Given the description of an element on the screen output the (x, y) to click on. 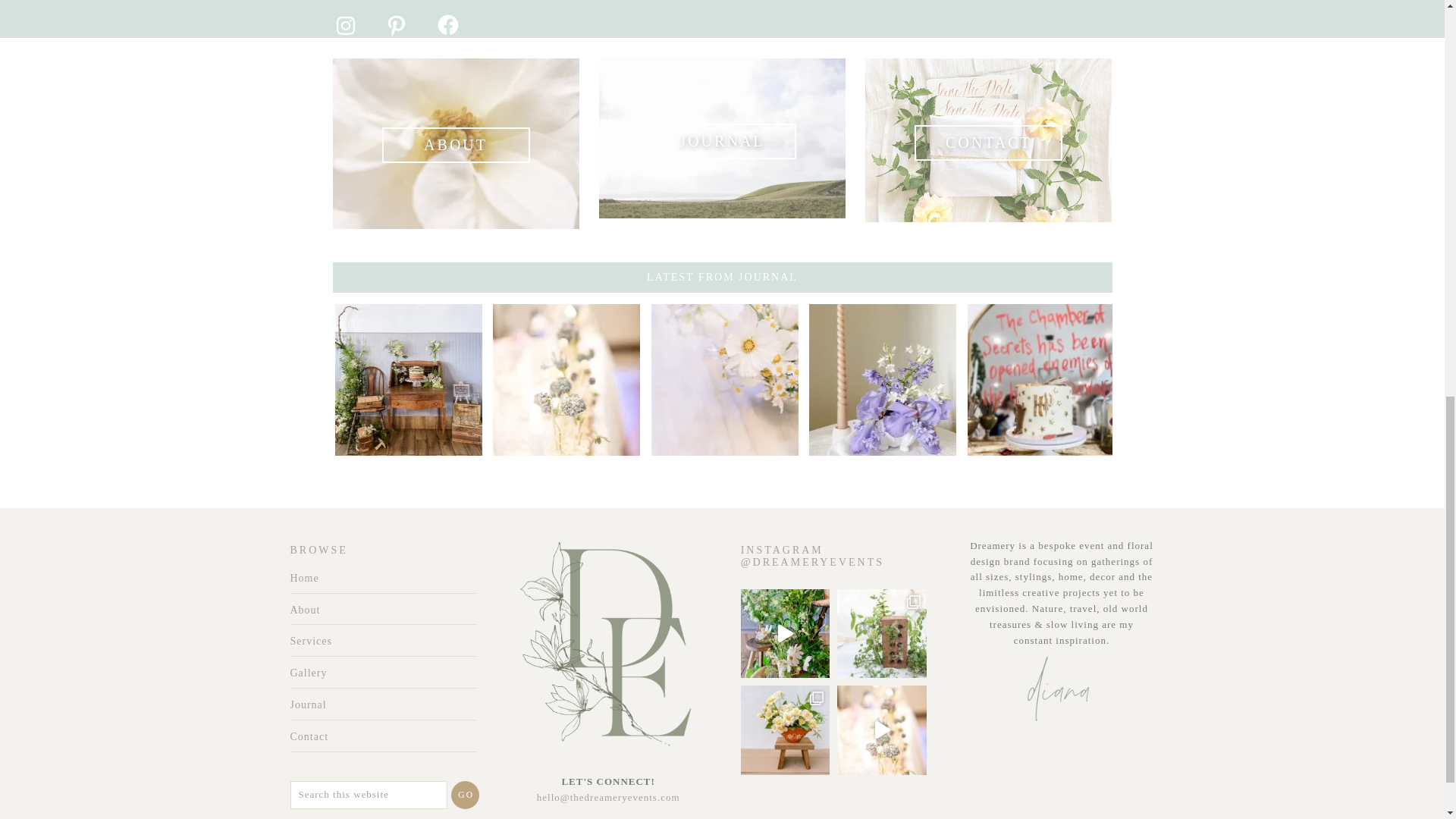
GO (465, 795)
GO (465, 795)
